Given the description of an element on the screen output the (x, y) to click on. 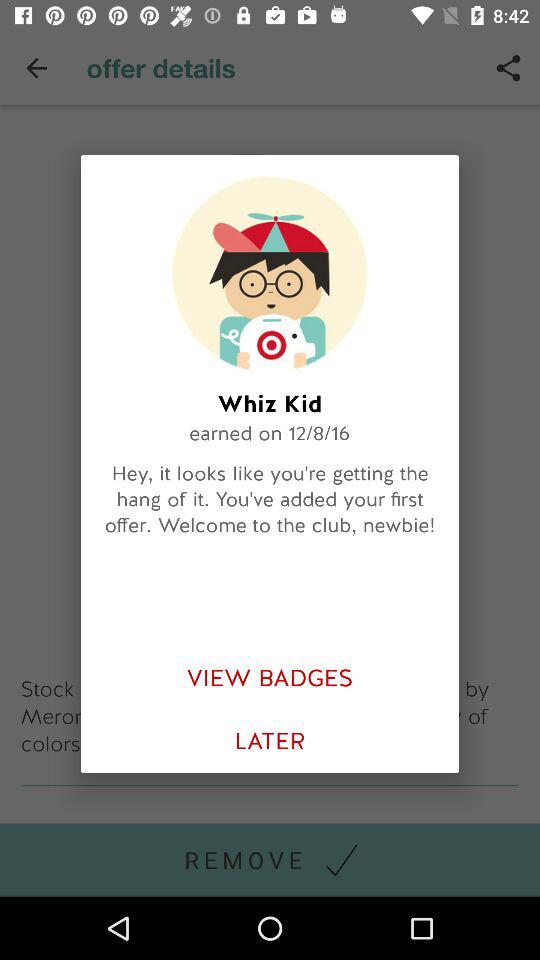
open the view badges (270, 678)
